Given the description of an element on the screen output the (x, y) to click on. 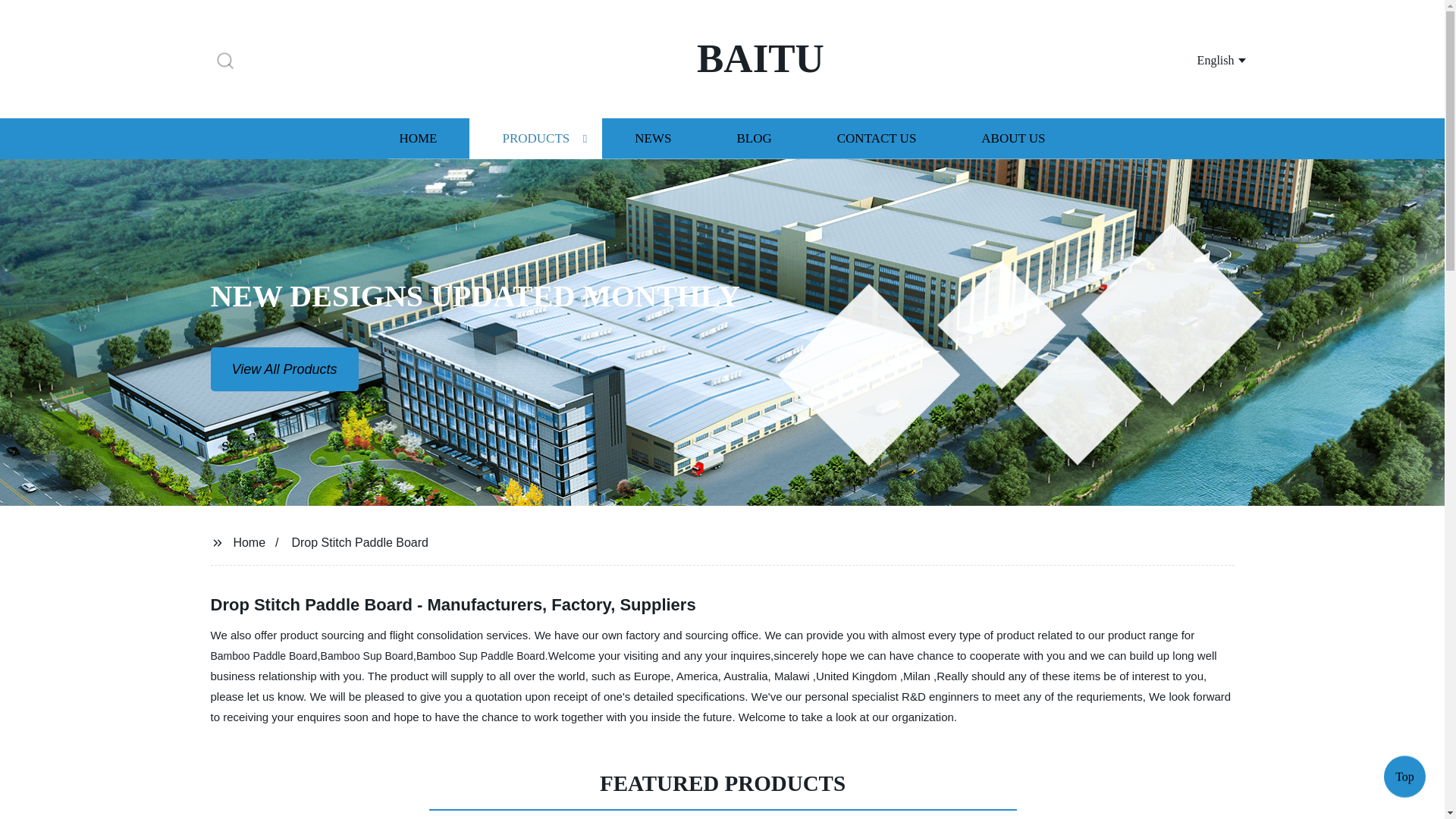
Bamboo Paddle Board (264, 654)
ABOUT US (1013, 137)
Bamboo Sup Board (366, 654)
Top (1404, 779)
Bamboo Sup Board (366, 654)
Bamboo Sup Paddle Board (480, 654)
Bamboo Paddle Board (264, 654)
CONTACT US (877, 137)
HOME (417, 137)
Drop Stitch Paddle Board (359, 541)
BLOG (753, 137)
Home (248, 541)
English (1203, 59)
English (1203, 59)
PRODUCTS (535, 137)
